Given the description of an element on the screen output the (x, y) to click on. 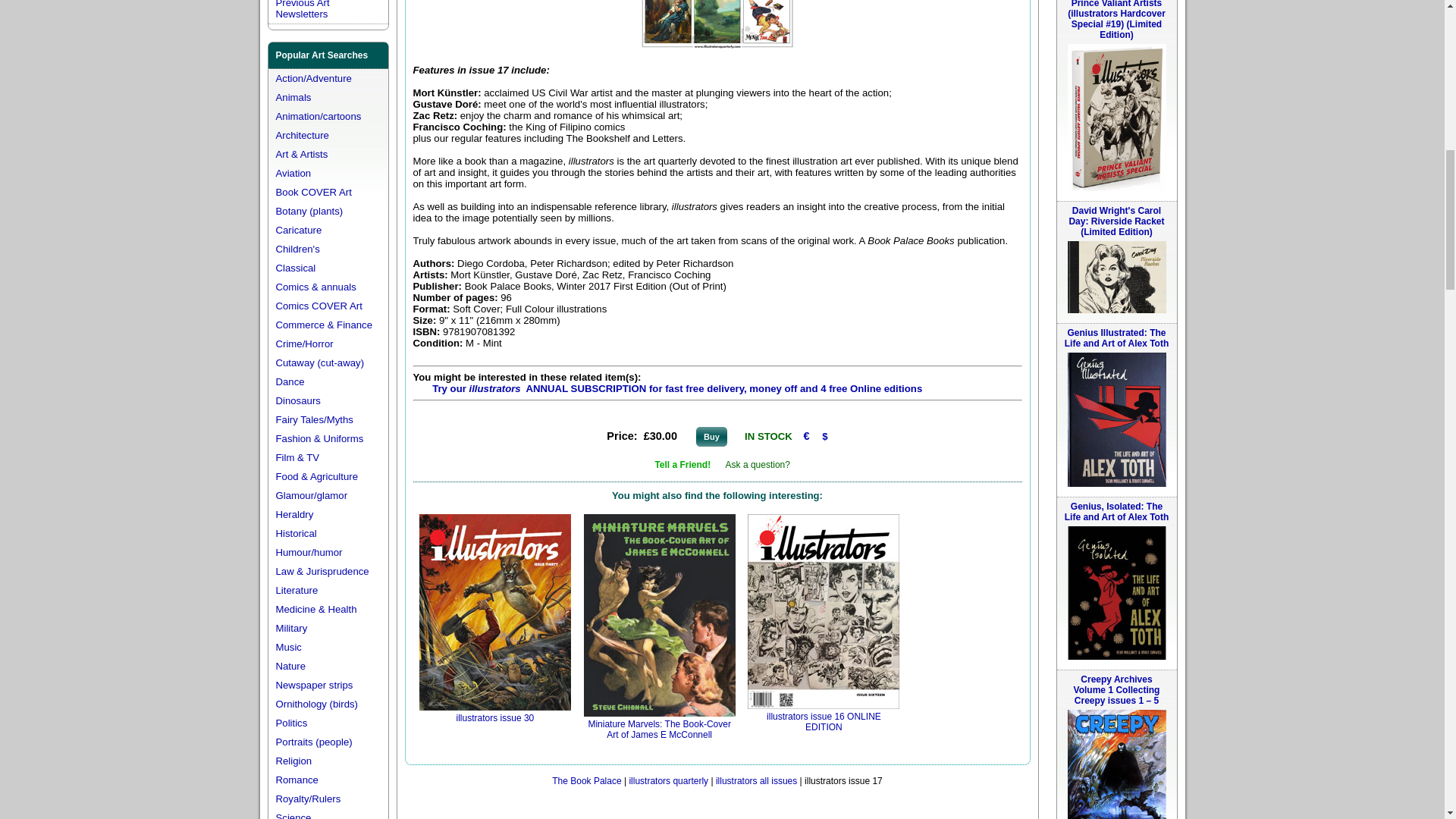
Buy (710, 436)
